Given the description of an element on the screen output the (x, y) to click on. 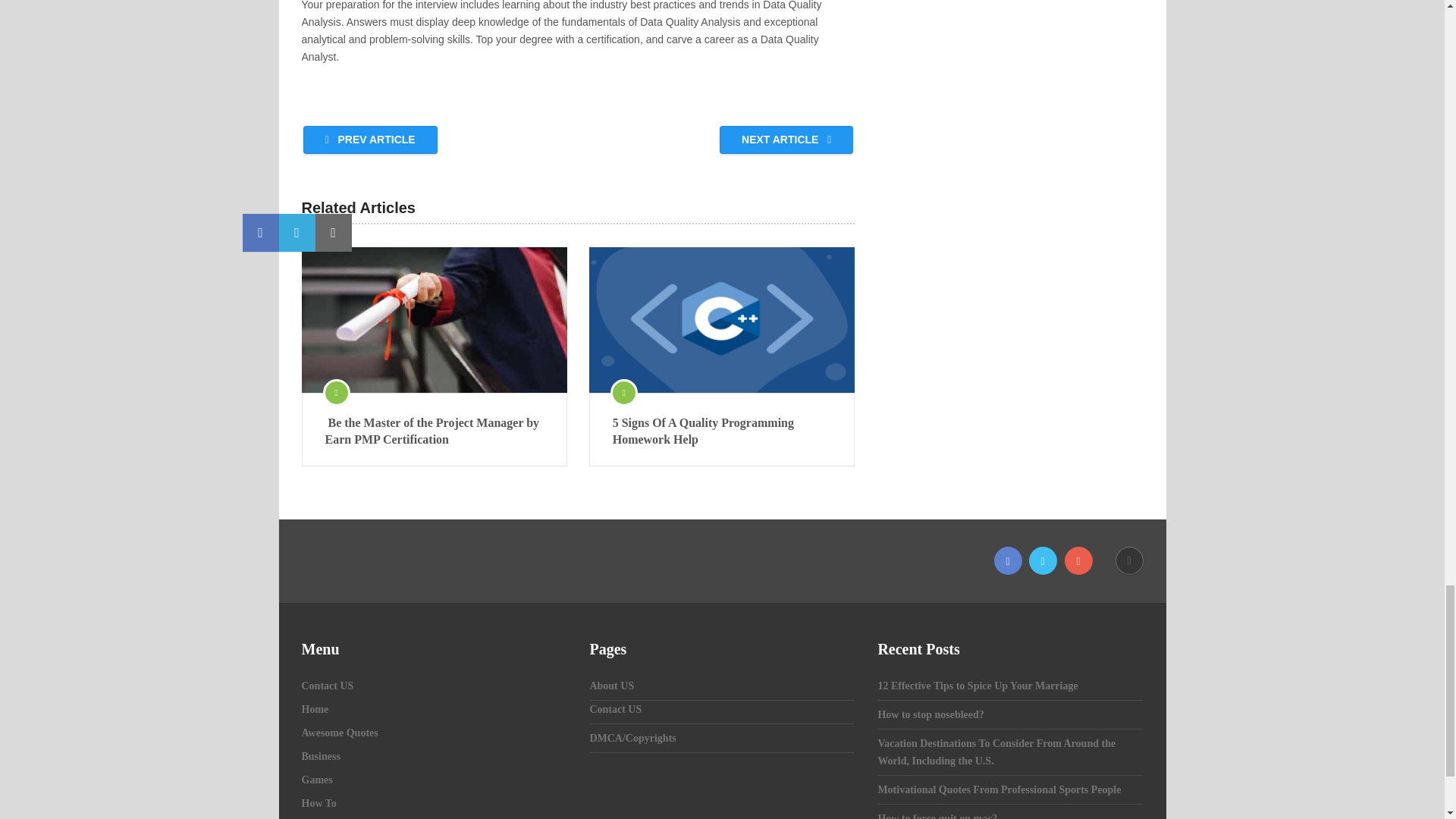
NEXT ARTICLE (786, 139)
5 Signs Of A Quality Programming Homework Help (721, 431)
5 Signs Of A Quality Programming Homework Help (721, 431)
PREV ARTICLE (370, 139)
5 Signs Of A Quality Programming Homework Help (721, 320)
